Given the description of an element on the screen output the (x, y) to click on. 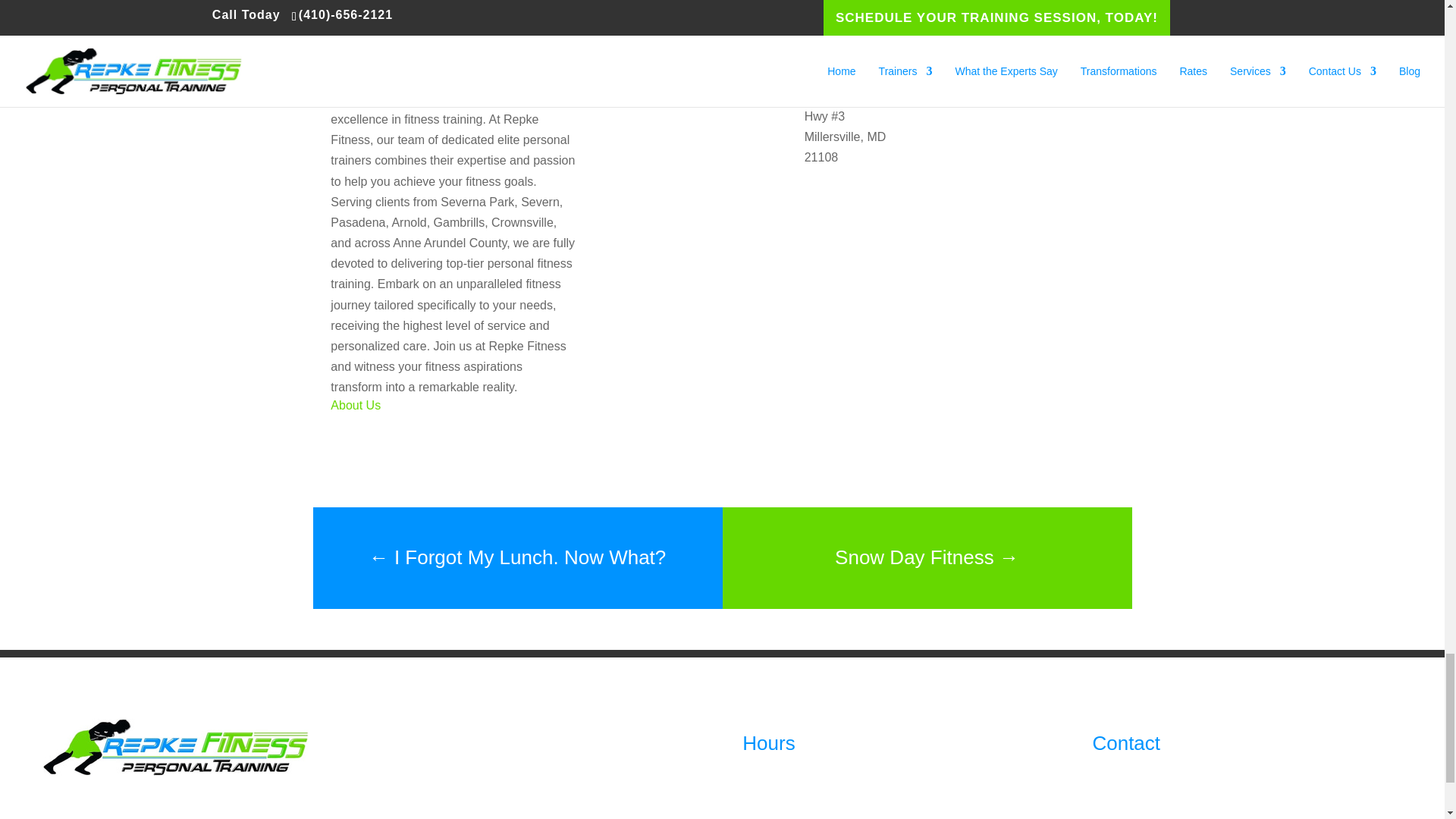
Repke Fitness personal training (175, 747)
